Given the description of an element on the screen output the (x, y) to click on. 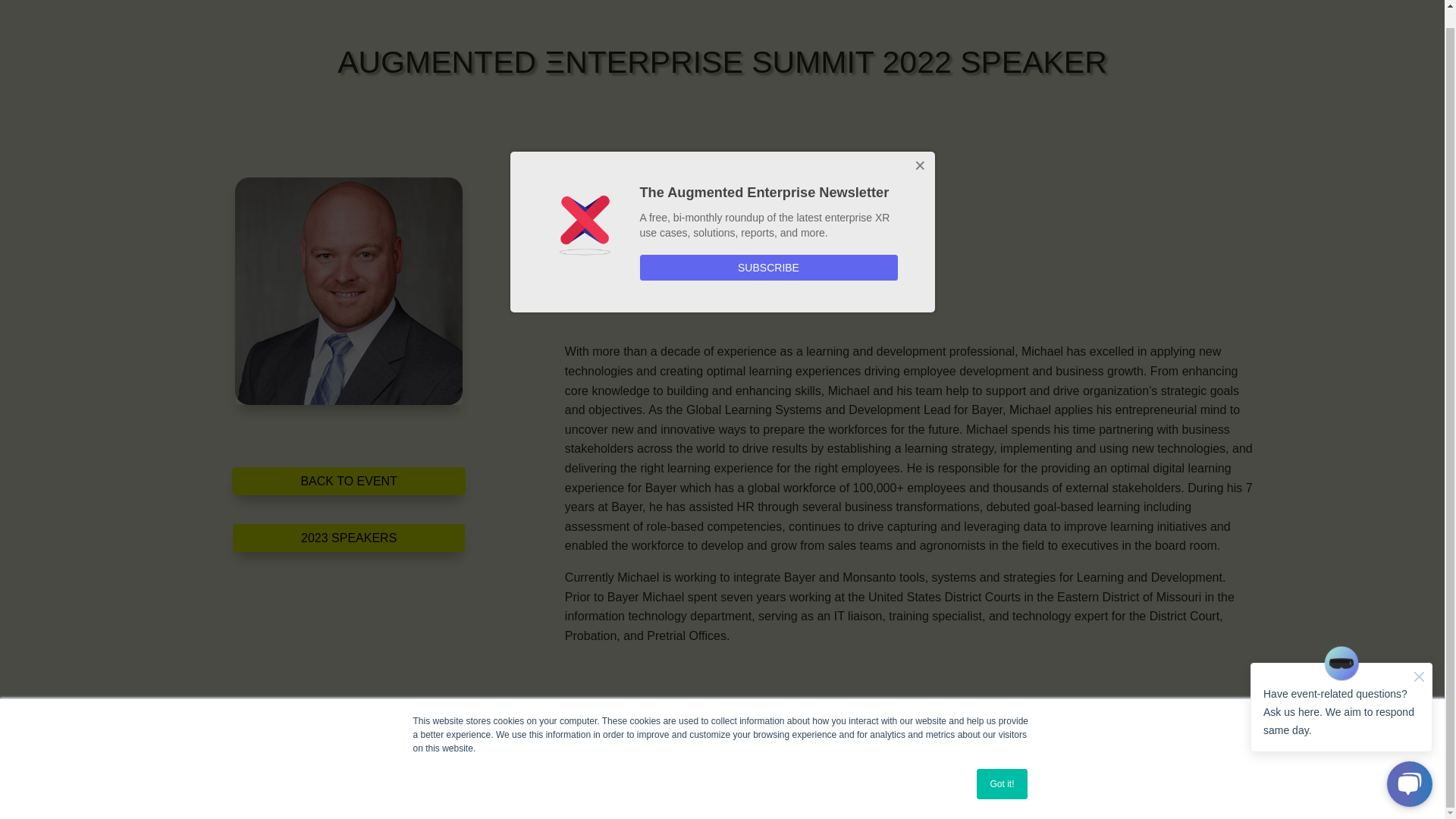
Privacy Policy (649, 783)
ALLISON YANITES AES 2022 (348, 290)
Produced by BrainXchange (391, 783)
Follow on X (607, 294)
SUBSCRIBE (769, 249)
Got it! (1001, 766)
Newsletter Sign-up (1010, 783)
Antitrust Policy (889, 783)
Follow on LinkedIn (576, 294)
BACK TO EVENT (347, 480)
Code of Conduct (540, 783)
2023 SPEAKERS (348, 538)
